Given the description of an element on the screen output the (x, y) to click on. 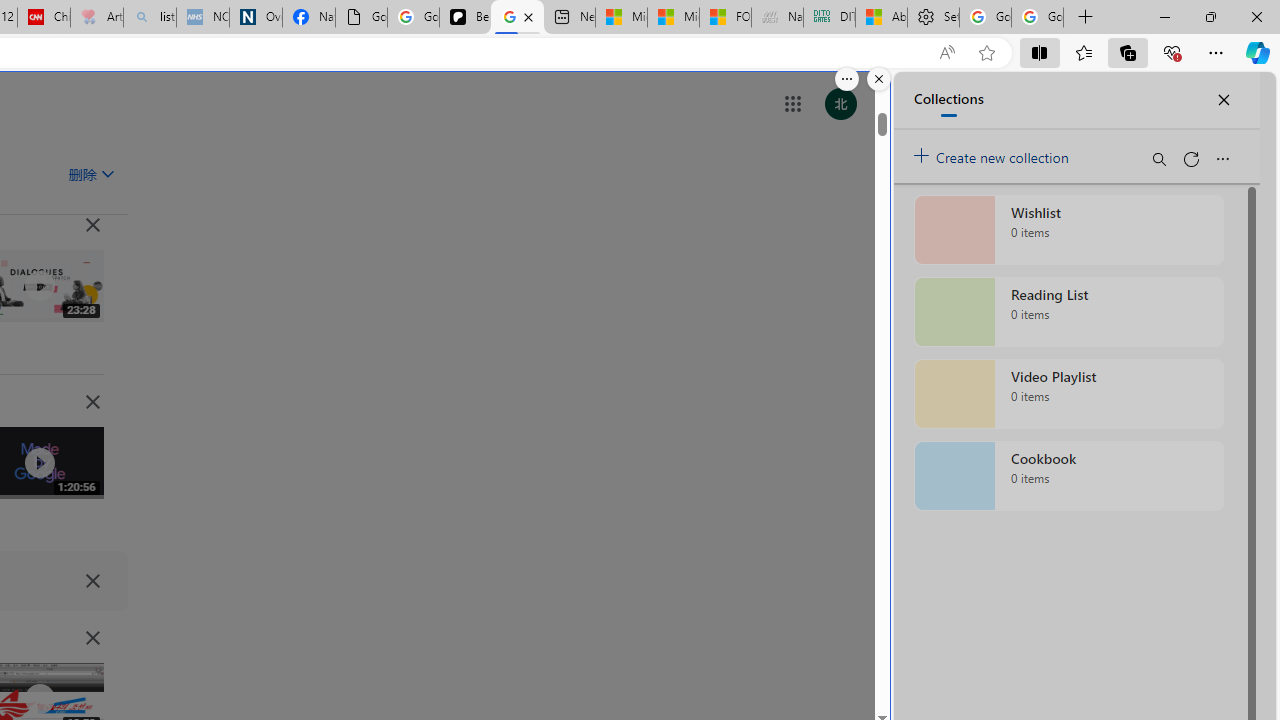
Close split screen. (878, 79)
More options. (846, 79)
Google Analytics Opt-out Browser Add-on Download Page (360, 17)
